Given the description of an element on the screen output the (x, y) to click on. 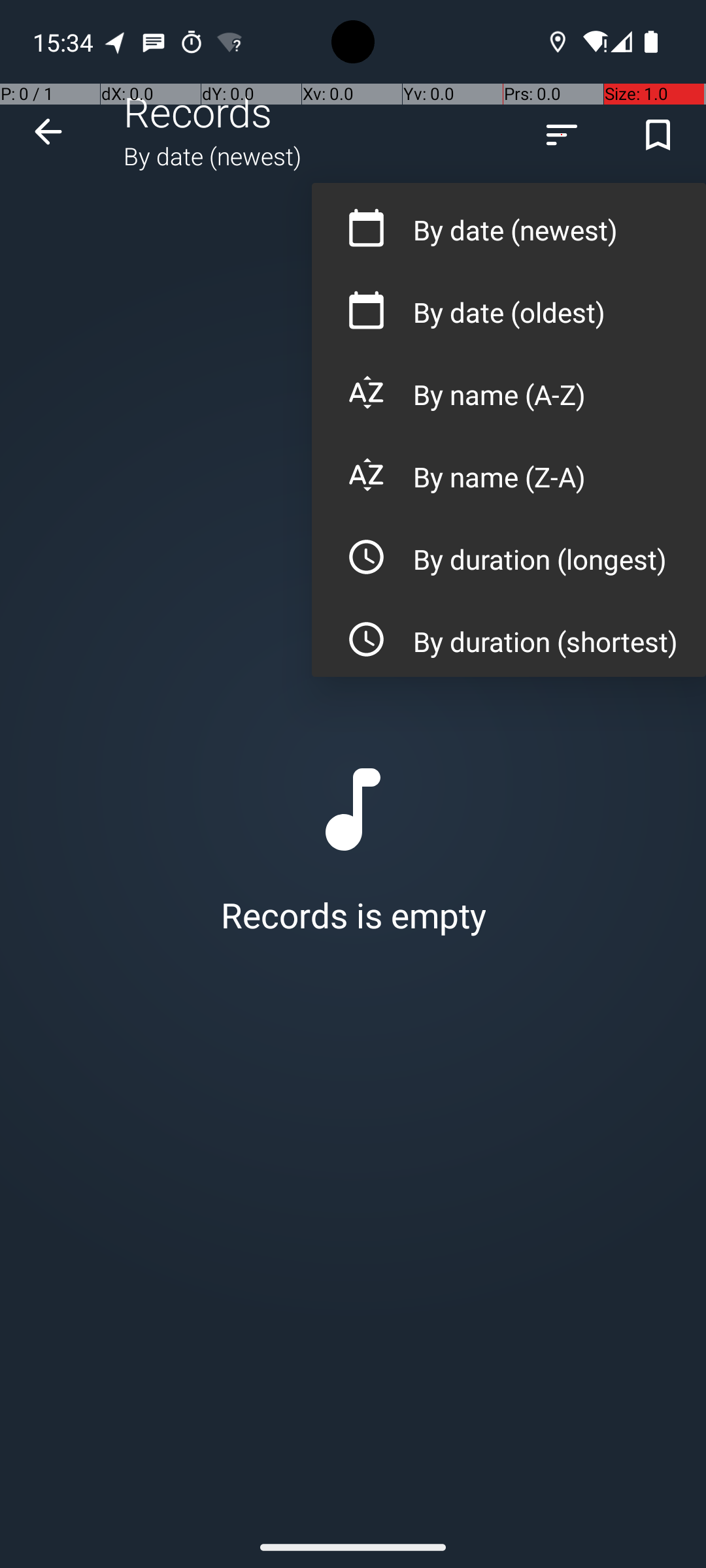
      By date (newest) Element type: android.widget.TextView (508, 223)
      By date (oldest) Element type: android.widget.TextView (508, 305)
      By name (A-Z) Element type: android.widget.TextView (508, 387)
      By name (Z-A) Element type: android.widget.TextView (508, 470)
      By duration (longest) Element type: android.widget.TextView (508, 552)
      By duration (shortest) Element type: android.widget.TextView (508, 634)
